Given the description of an element on the screen output the (x, y) to click on. 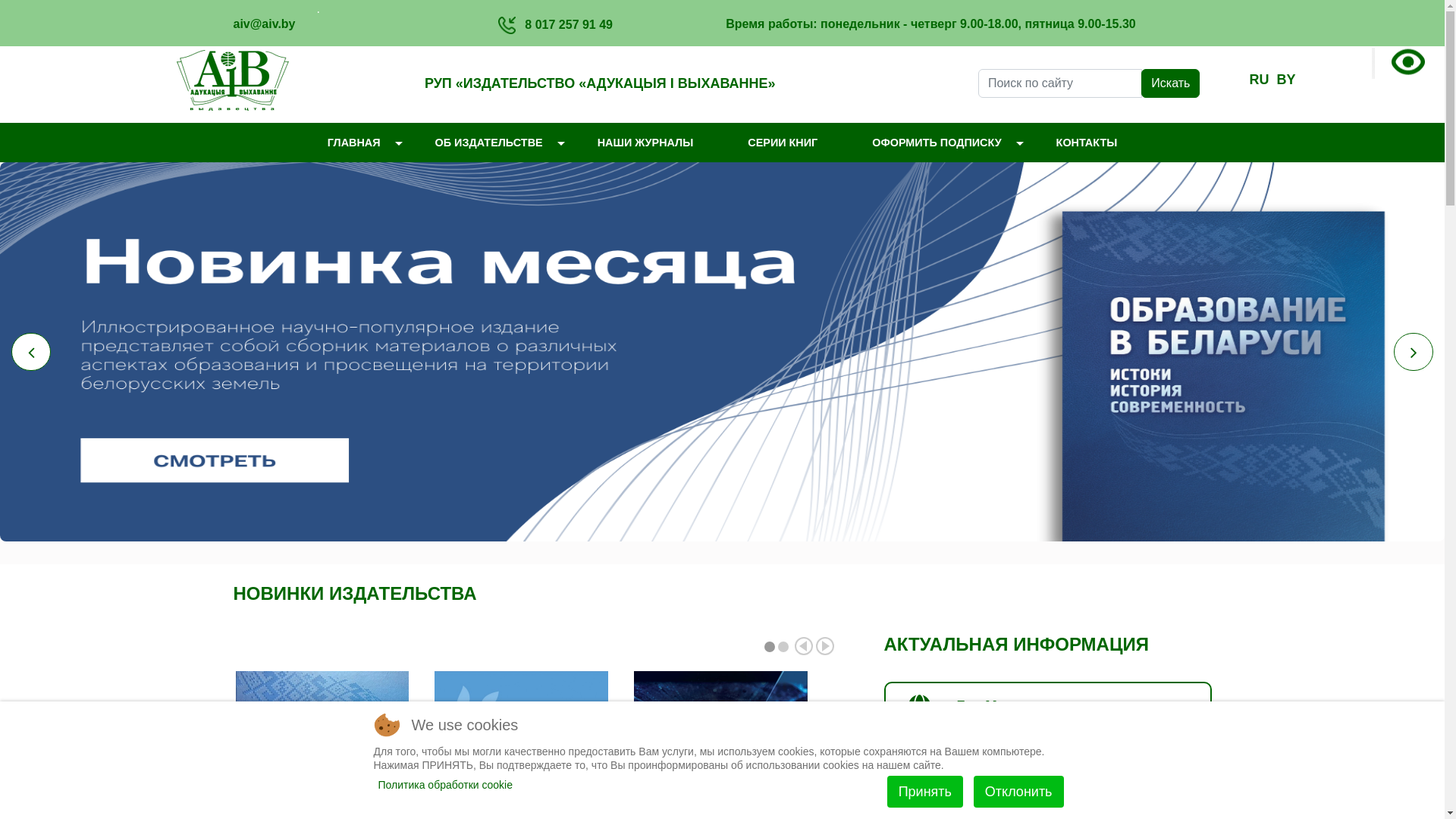
Next Element type: text (824, 646)
2 Element type: text (783, 646)
8 017 257 91 49 Element type: text (568, 24)
. Element type: text (1394, 63)
aiv@aiv.by Element type: text (264, 23)
1 Element type: text (769, 646)
Prev Element type: text (803, 646)
